Given the description of an element on the screen output the (x, y) to click on. 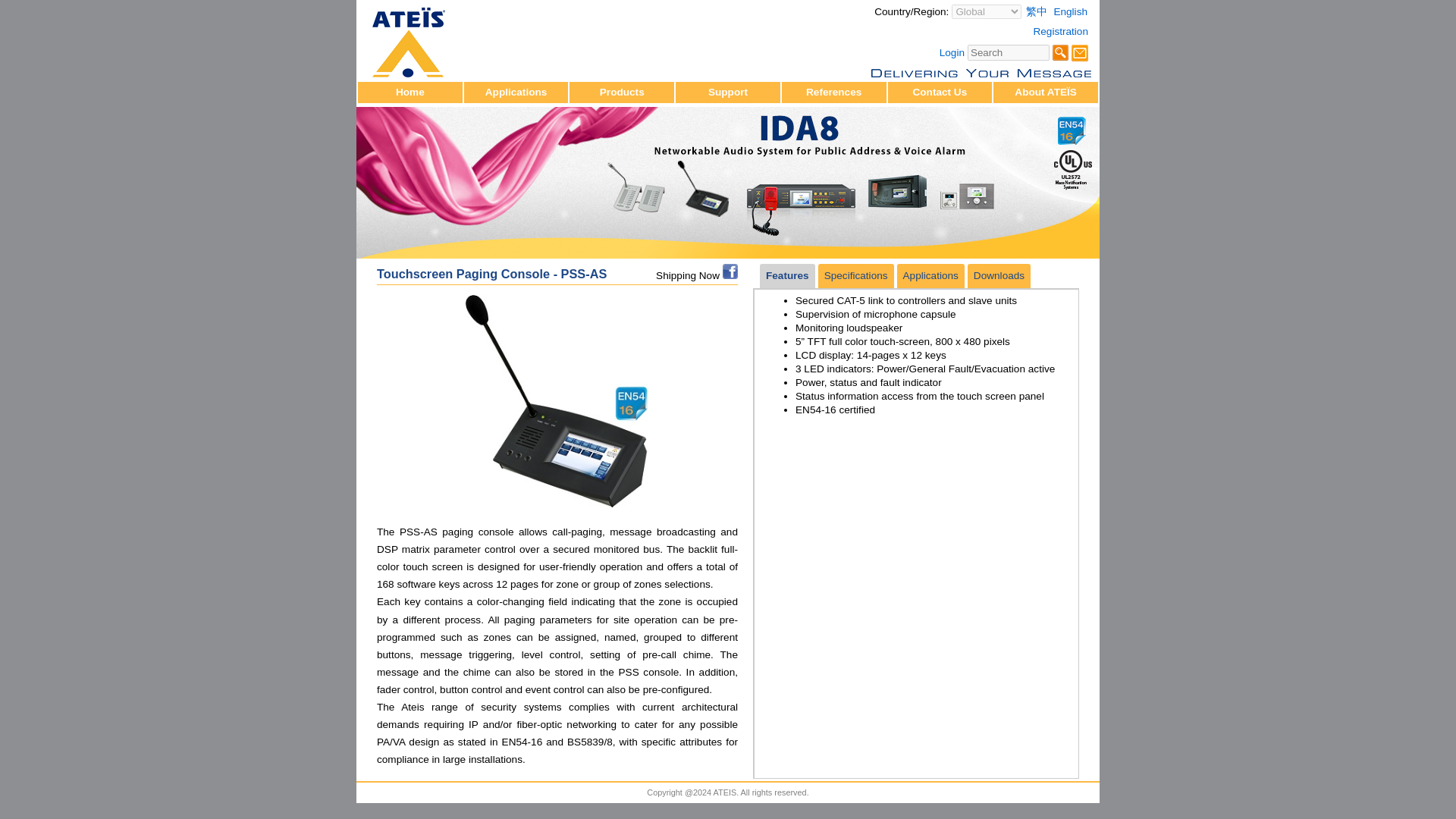
Registration (1061, 30)
Search (1060, 52)
Applications (515, 91)
Products (621, 91)
Login (951, 52)
English (1072, 11)
Home (409, 91)
Contact Us (1079, 53)
